Given the description of an element on the screen output the (x, y) to click on. 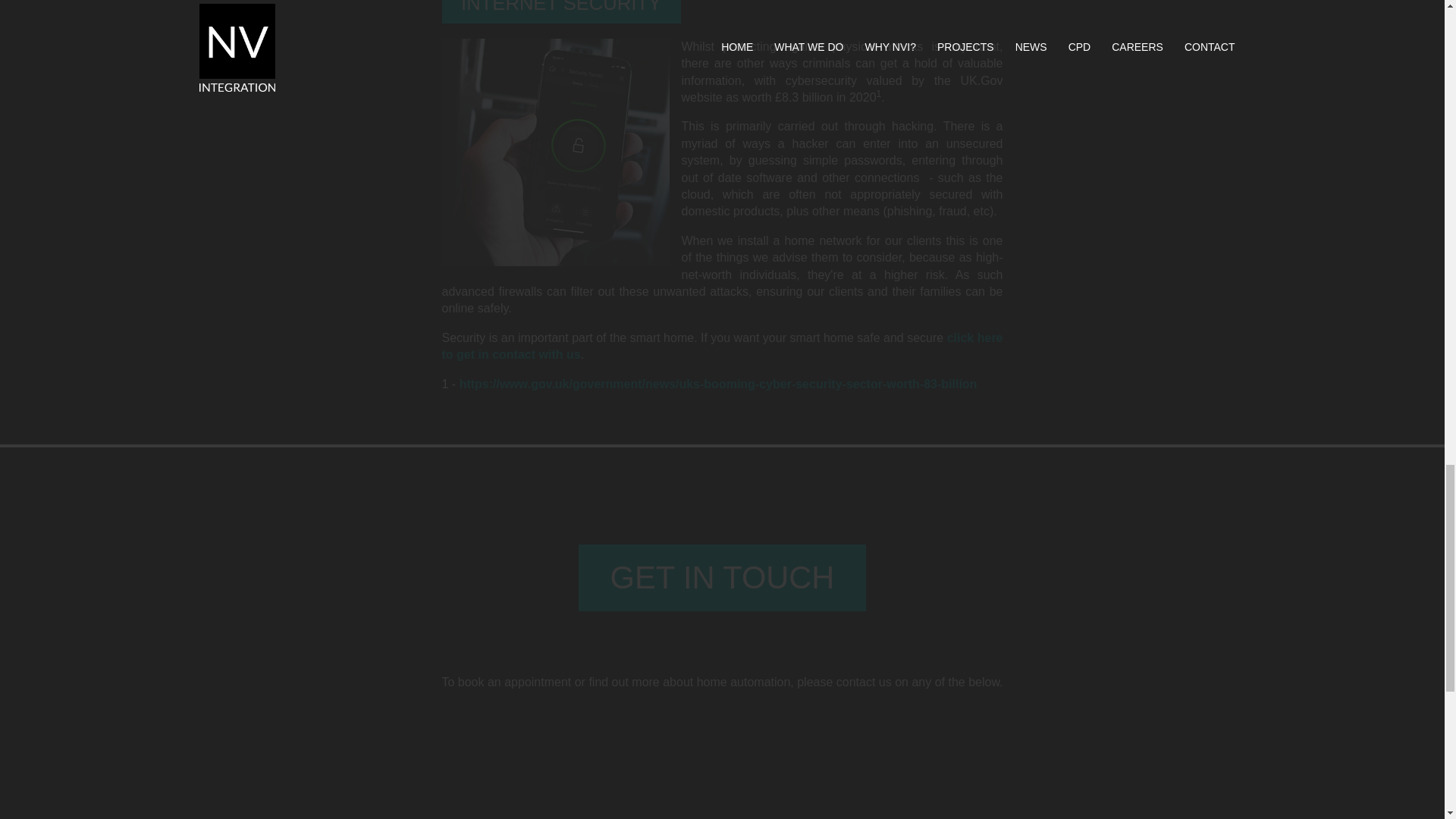
click here to get in contact with us (722, 346)
